Given the description of an element on the screen output the (x, y) to click on. 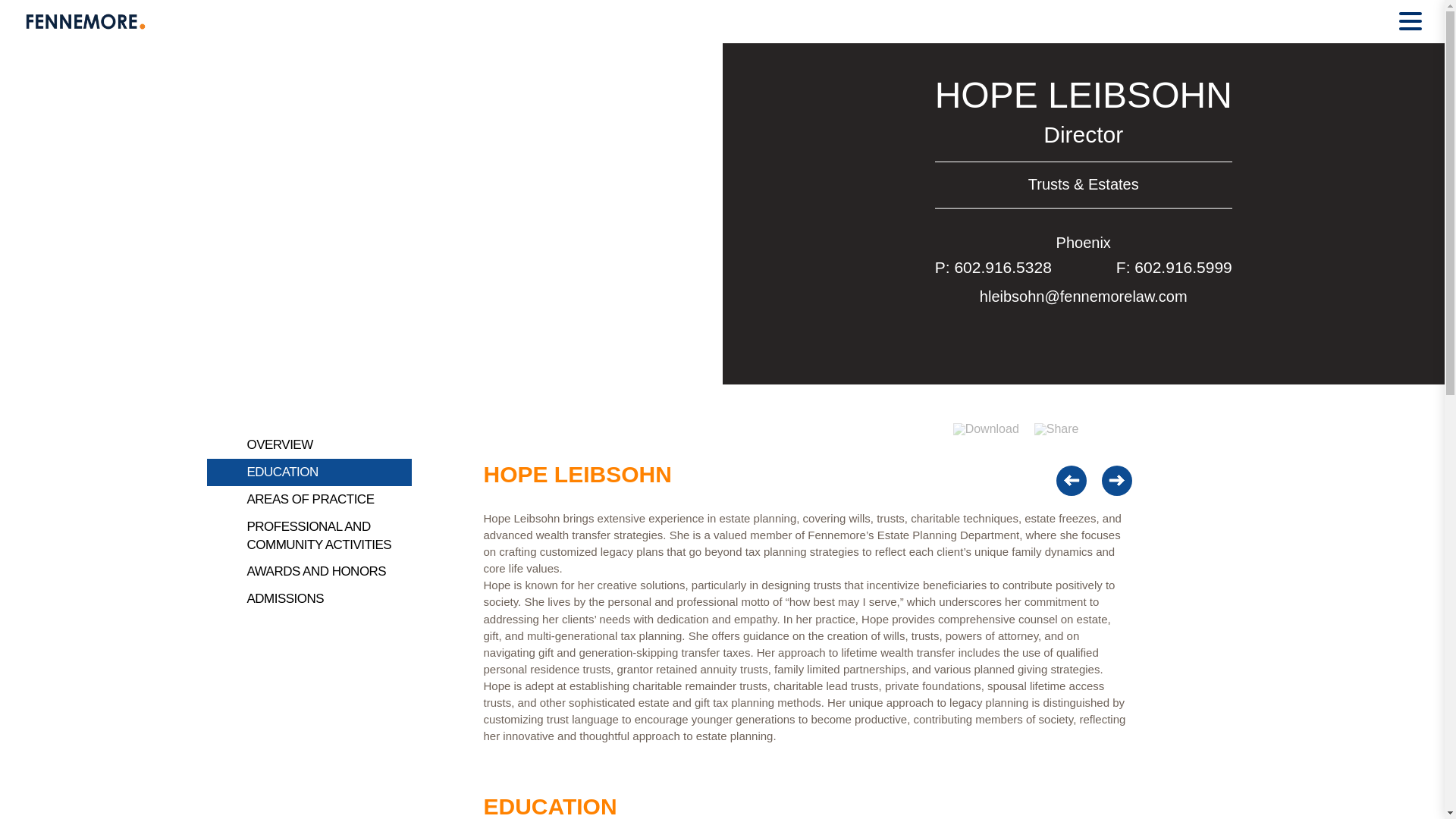
OVERVIEW (280, 444)
Share (1055, 427)
602.916.5328 (1002, 267)
Phoenix (1083, 242)
602.916.5999 (1182, 267)
